Given the description of an element on the screen output the (x, y) to click on. 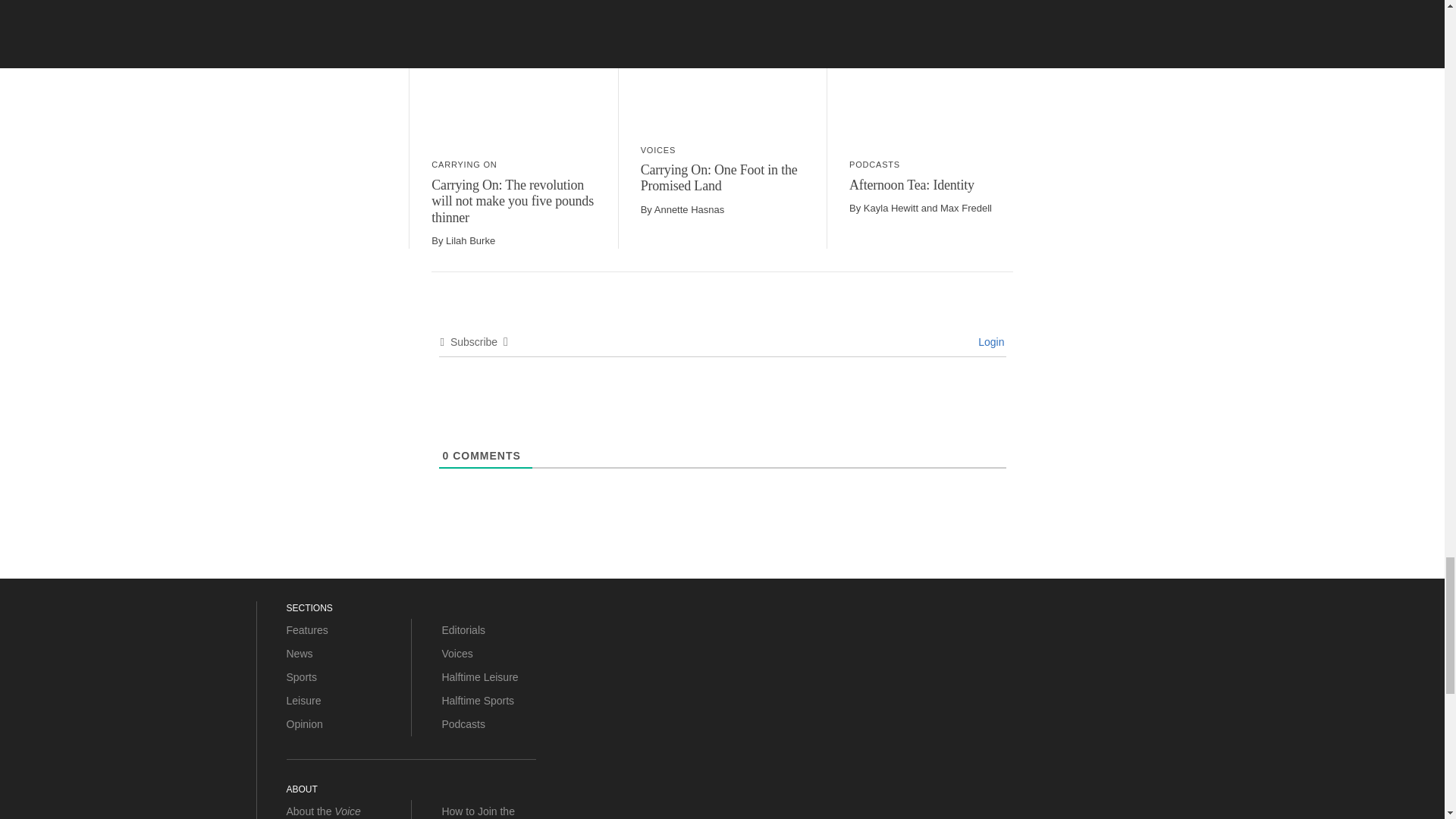
Posts by Lilah Burke (470, 240)
Posts by Kayla Hewitt (890, 207)
Posts by Annette Hasnas (689, 209)
Posts by Max Fredell (965, 207)
